Given the description of an element on the screen output the (x, y) to click on. 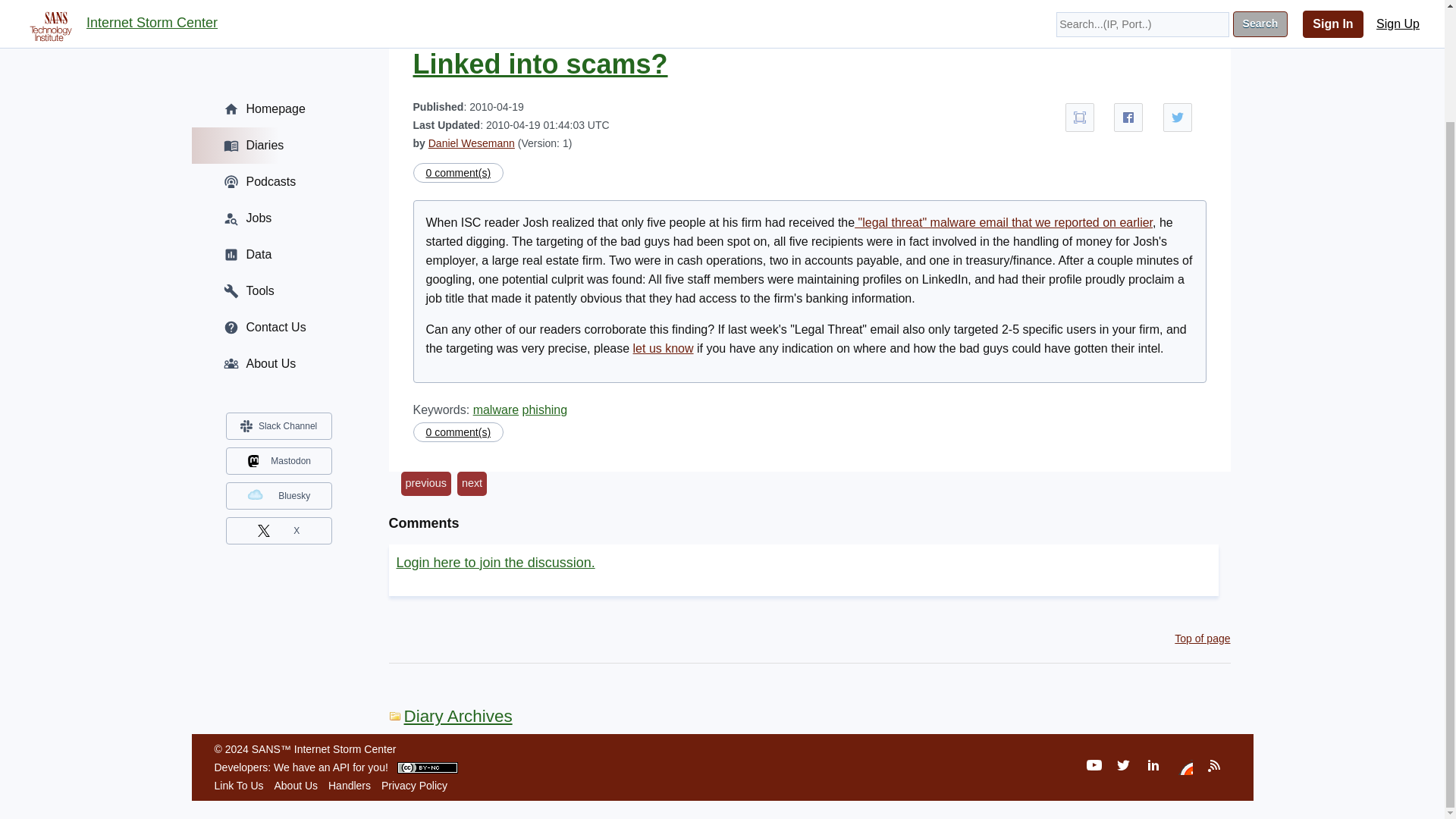
next (471, 483)
Data (277, 122)
previous (424, 483)
Full Screen (1079, 117)
Diaries (277, 15)
Jobs (277, 85)
let us know (663, 348)
Top of page (1202, 638)
Podcasts (277, 49)
Share on Facebook (1127, 117)
"legal threat" malware email that we reported on earlier (1003, 222)
Diary Archives (450, 715)
malware (495, 409)
Daniel Wesemann (471, 143)
phishing (544, 409)
